Given the description of an element on the screen output the (x, y) to click on. 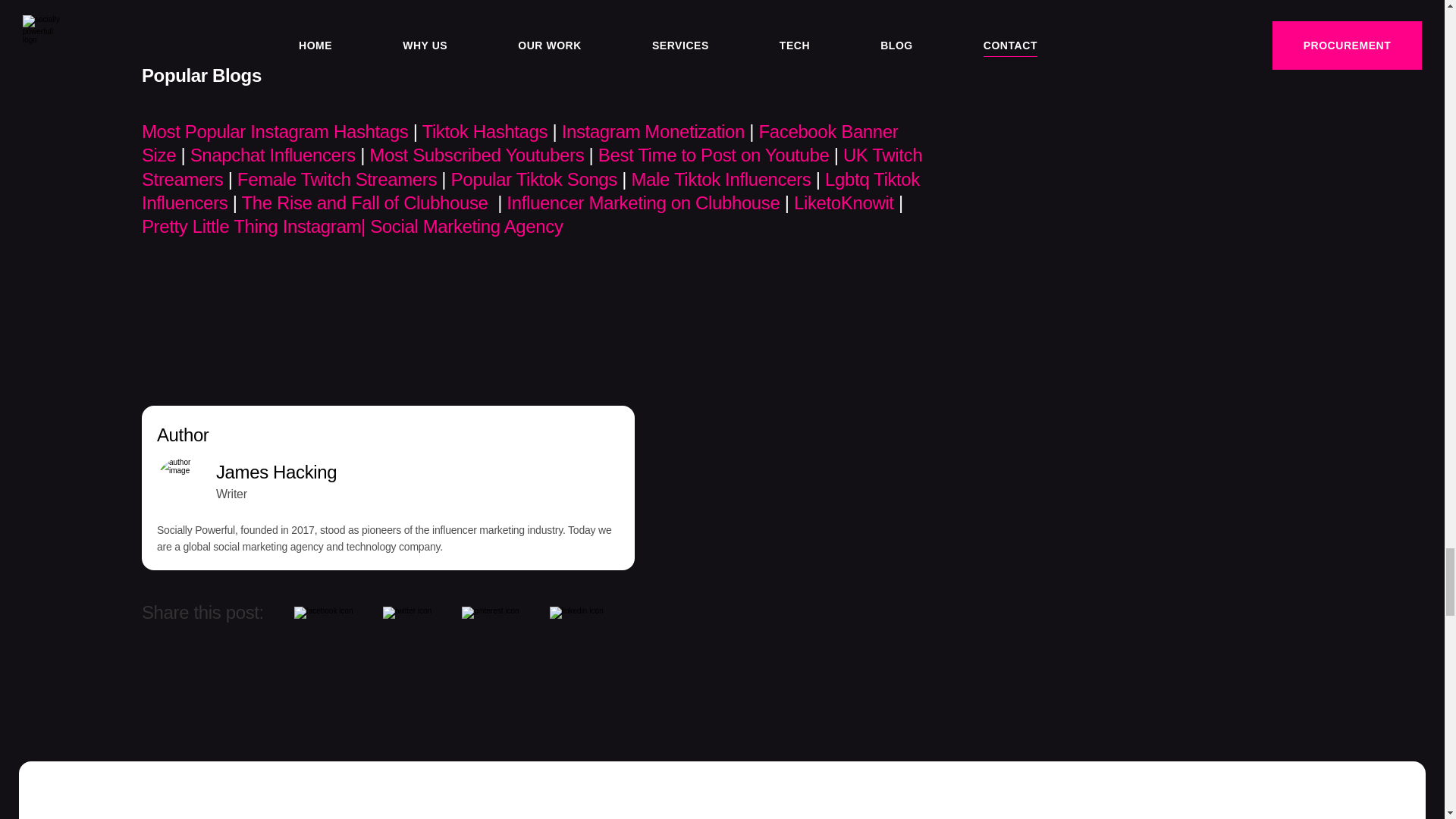
Popular Tiktok Songs (534, 178)
Most Popular Instagram Hashtags (274, 131)
Facebook Banner Size (519, 143)
Lgbtq Tiktok Influencers (530, 190)
Best Time to Post on Youtube (713, 154)
Snapchat Influencers (272, 154)
Male Tiktok Influencers (720, 178)
Most Subscribed Youtubers (476, 154)
Instagram Monetization (653, 131)
UK Twitch Streamers (531, 166)
Tiktok Hashtags (484, 131)
Female Twitch Streamers (336, 178)
